Given the description of an element on the screen output the (x, y) to click on. 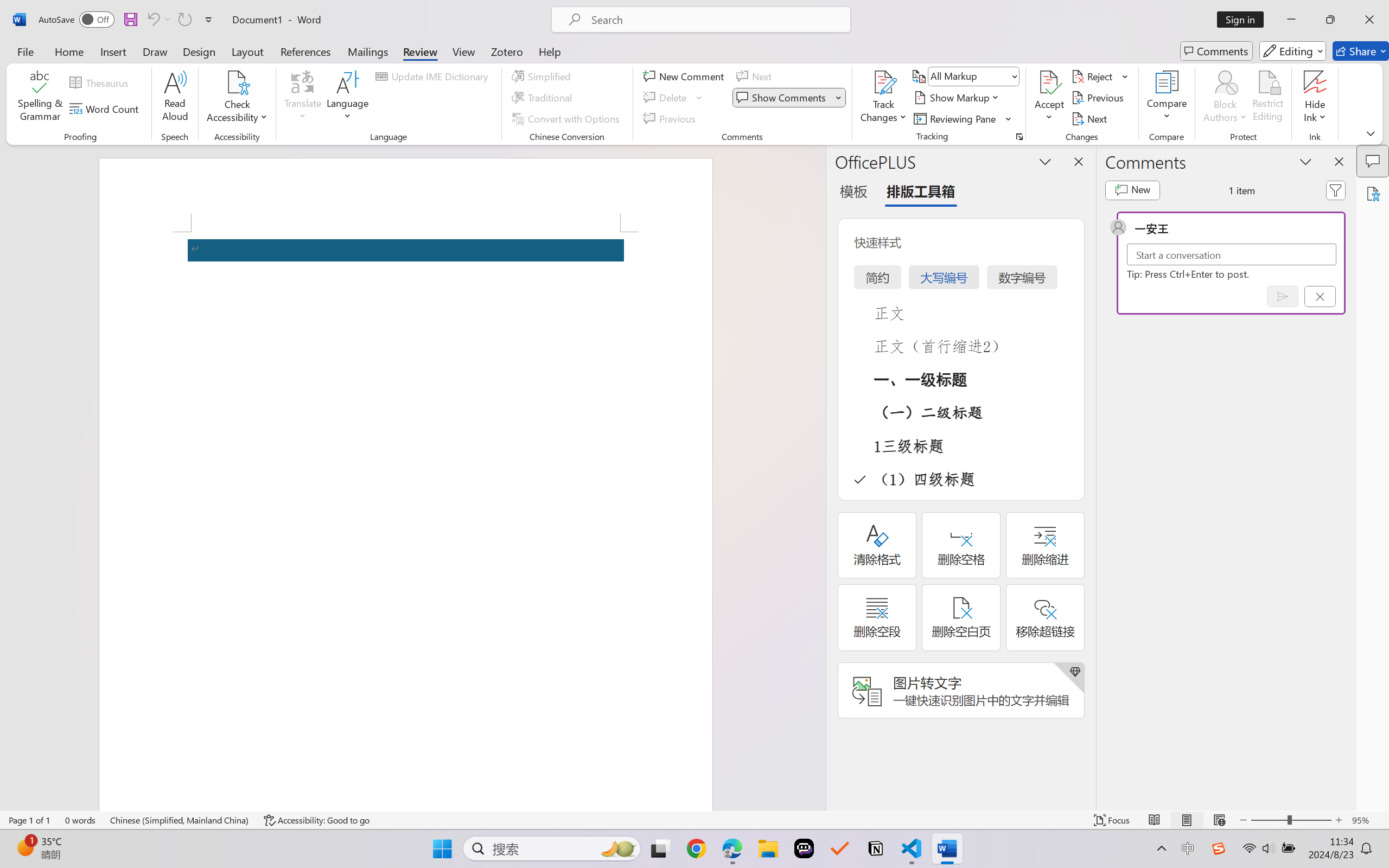
Undo Apply Quick Style Set (152, 19)
Accept (1049, 97)
Reviewing Pane (962, 118)
Compare (1166, 97)
Repeat Accessibility Checker (184, 19)
Next (1090, 118)
Show Comments (782, 97)
